Given the description of an element on the screen output the (x, y) to click on. 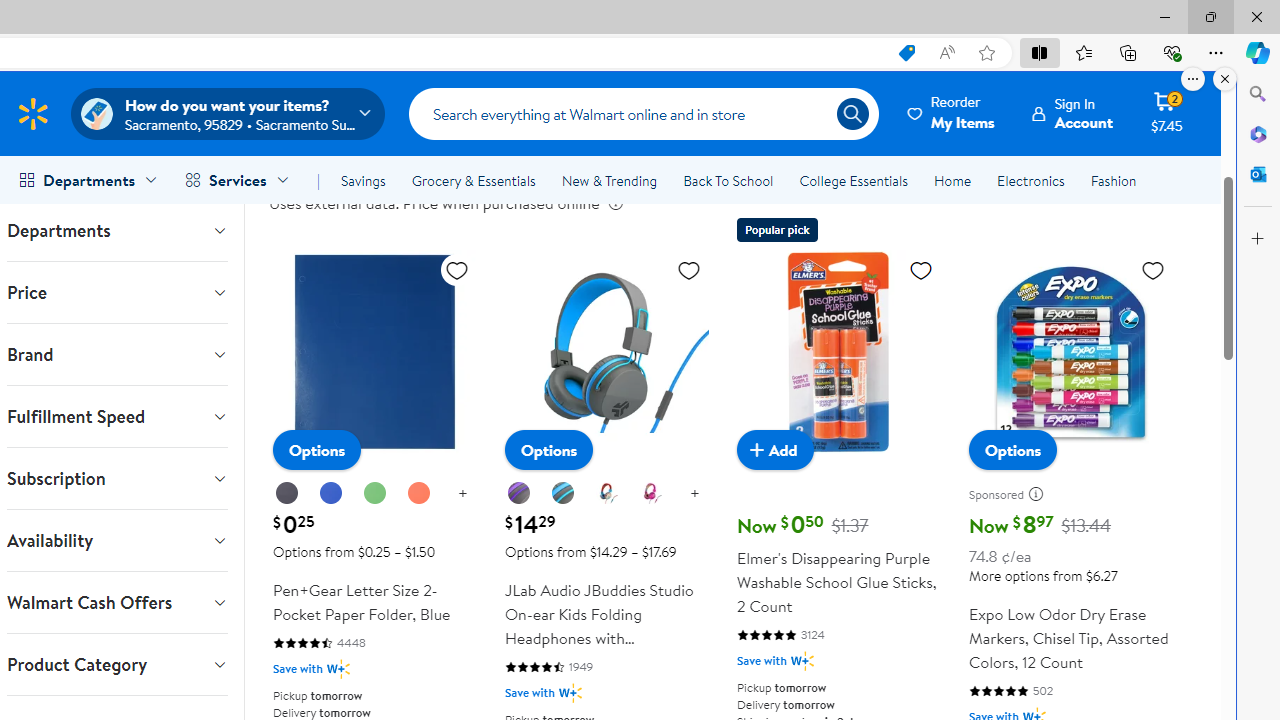
Fashion (1113, 180)
Savings (363, 180)
Microsoft 365 (1258, 133)
This site has coupons! Shopping in Microsoft Edge, 7 (906, 53)
Green (375, 494)
Restore (1210, 16)
